Given the description of an element on the screen output the (x, y) to click on. 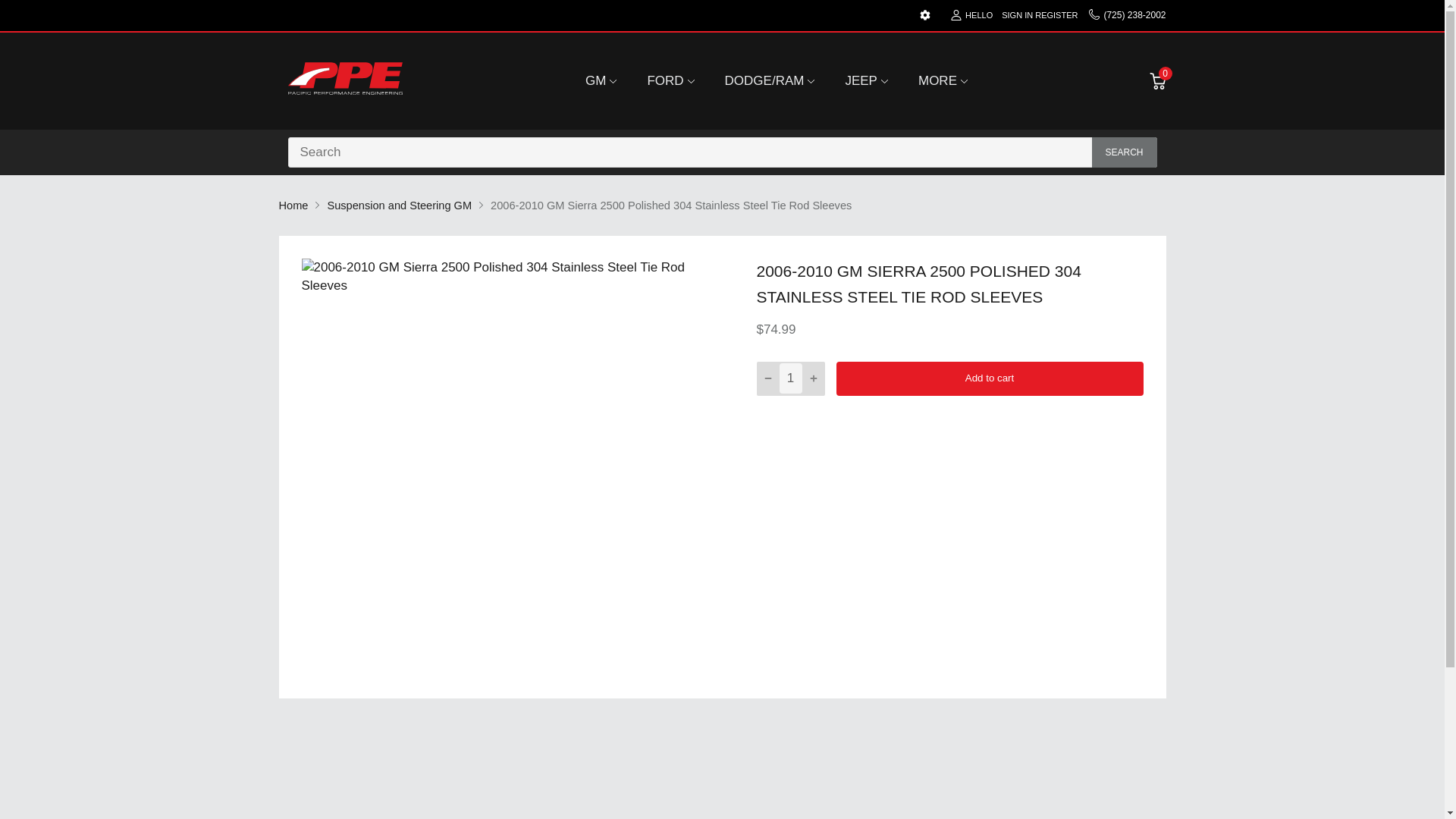
FORD (664, 80)
REGISTER (1056, 14)
SEARCH (1124, 152)
0 (1158, 80)
MORE (937, 80)
Home (293, 205)
Suspension and Steering GM (398, 205)
Add to cart (988, 378)
HELLO (971, 15)
